Given the description of an element on the screen output the (x, y) to click on. 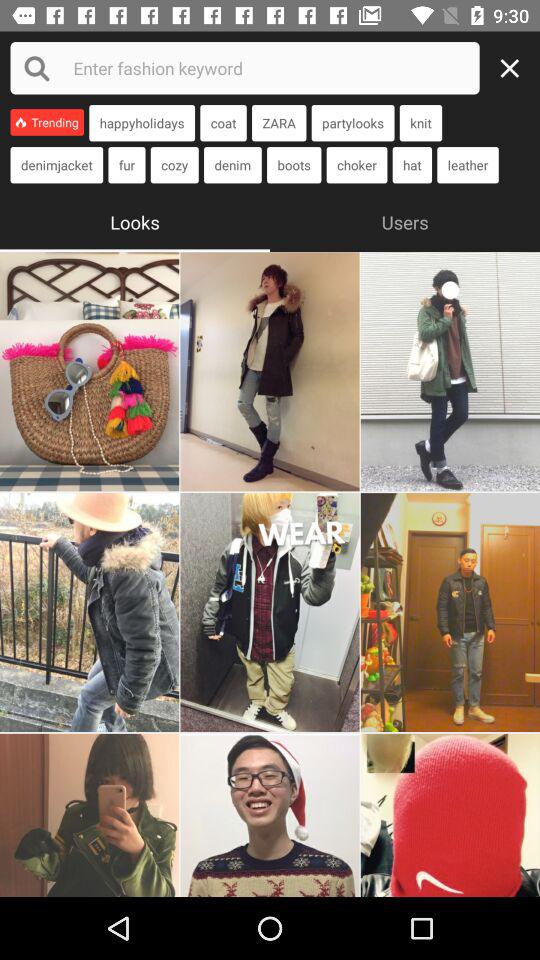
look closer at picture (269, 371)
